Given the description of an element on the screen output the (x, y) to click on. 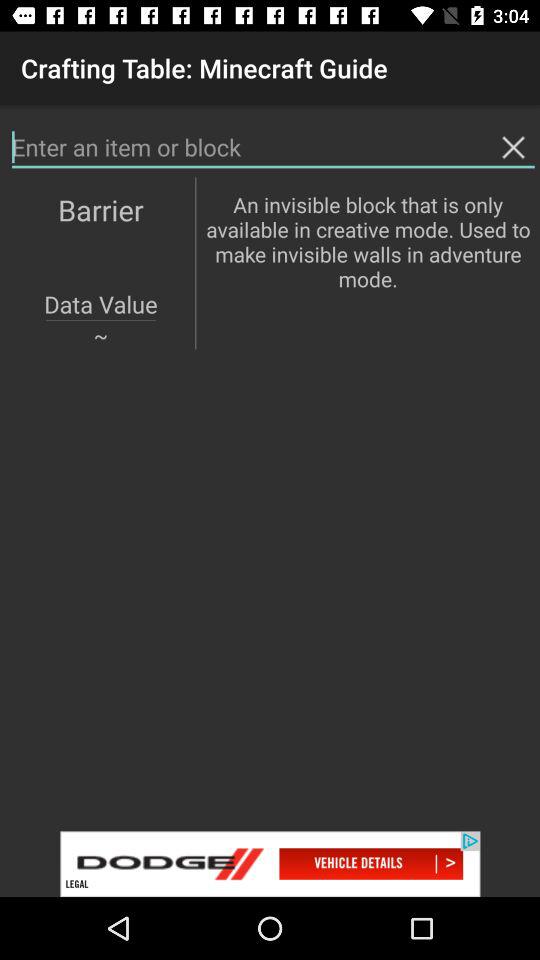
enter an item or block (273, 147)
